Given the description of an element on the screen output the (x, y) to click on. 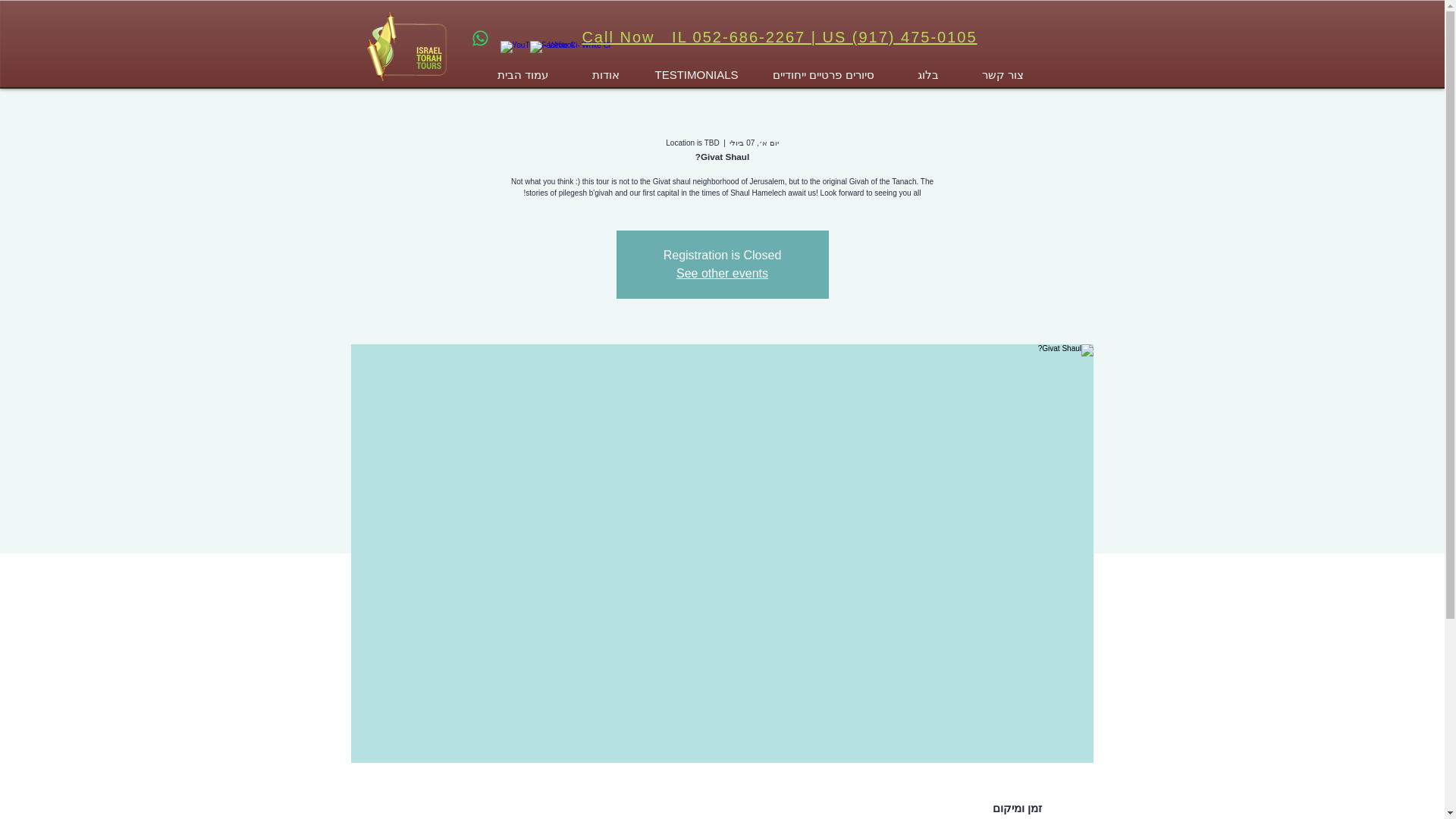
TESTIMONIALS (697, 75)
See other events (722, 273)
